Given the description of an element on the screen output the (x, y) to click on. 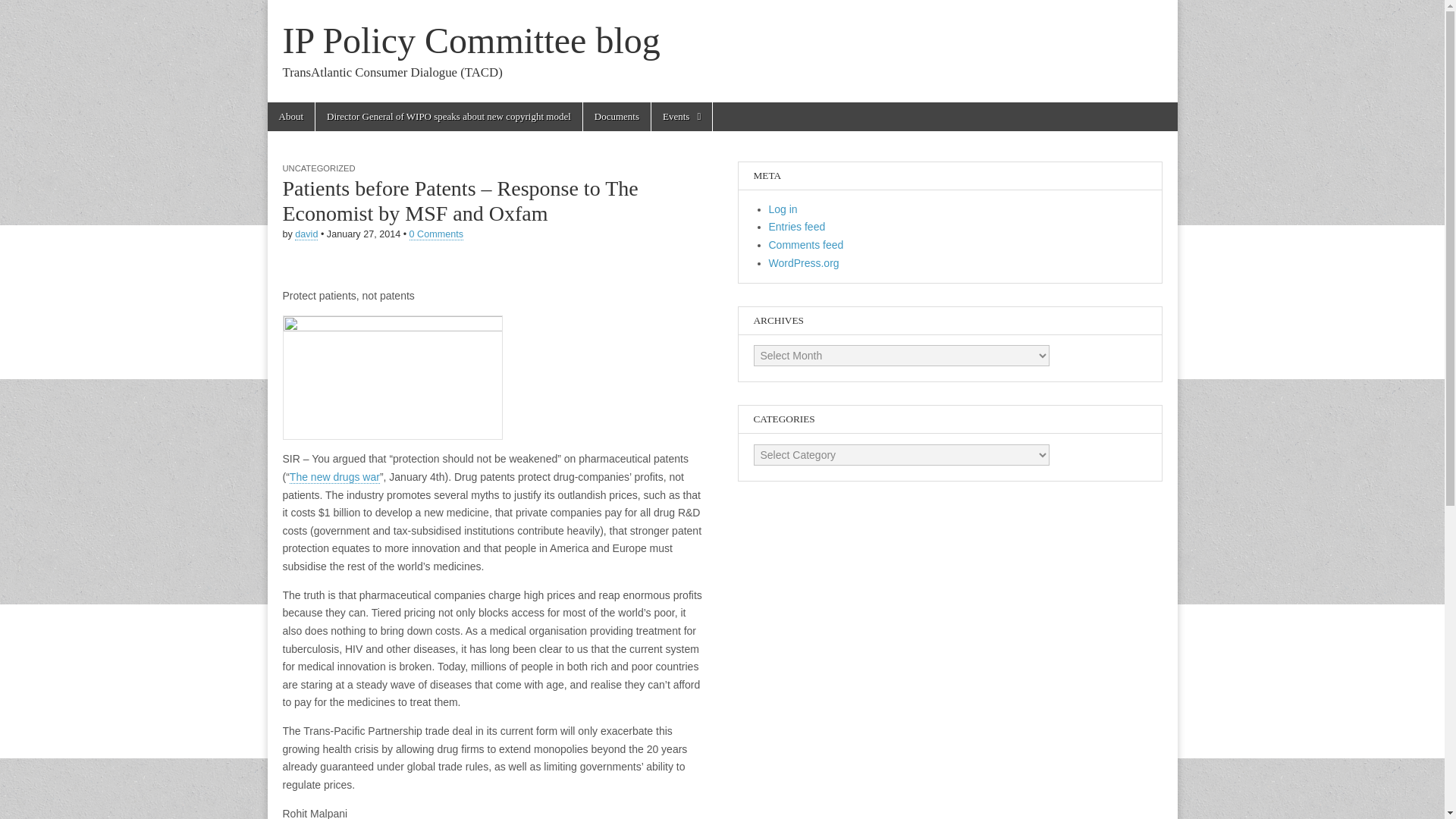
UNCATEGORIZED (318, 167)
About (290, 116)
Entries feed (796, 226)
Log in (782, 209)
Events (680, 116)
IP Policy Committee blog (470, 40)
0 Comments (436, 234)
WordPress.org (804, 263)
IP Policy Committee blog  (470, 40)
